Given the description of an element on the screen output the (x, y) to click on. 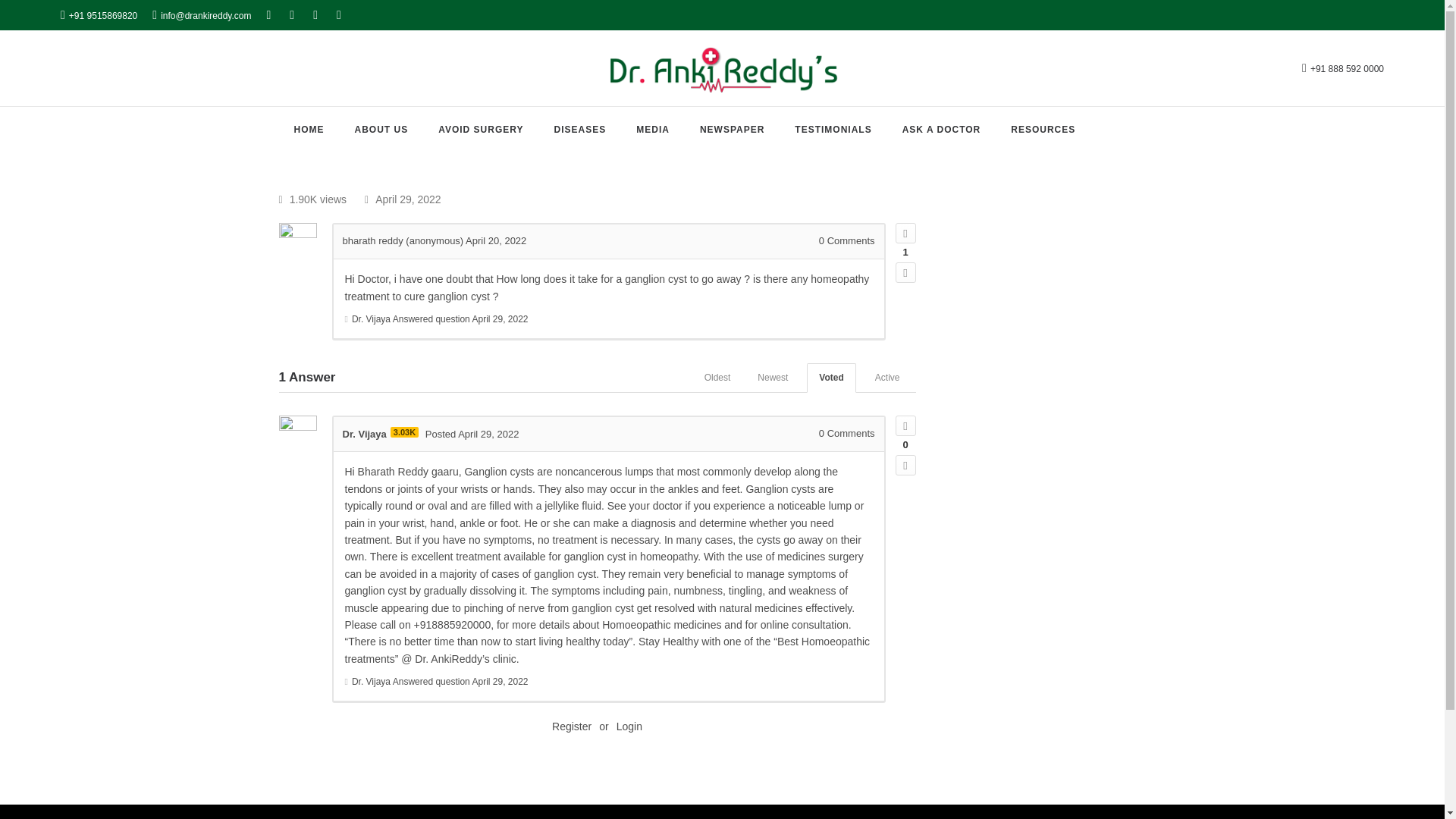
Up vote this post (905, 232)
TESTIMONIALS (832, 129)
HOME (308, 129)
ASK A DOCTOR (941, 129)
ABOUT US (380, 129)
NEWSPAPER (732, 129)
Reputation (404, 431)
Down vote this post (905, 272)
Up vote this post (905, 425)
RESOURCES (1042, 129)
